Given the description of an element on the screen output the (x, y) to click on. 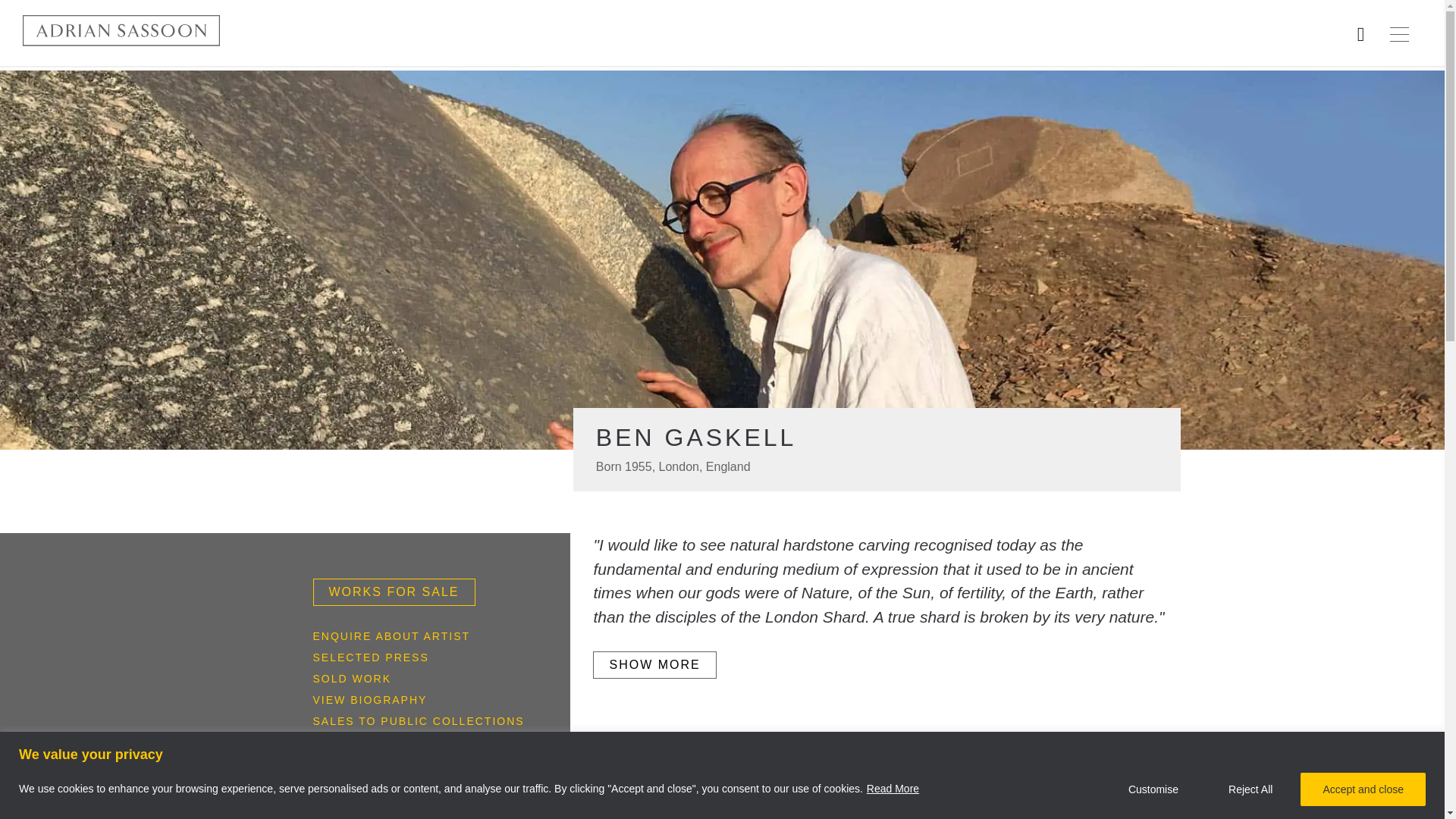
Reject All (1250, 788)
as-logo-grey (121, 30)
Read More (893, 788)
as-logo-grey (121, 30)
Accept and close (1362, 788)
Customise (1152, 788)
